Given the description of an element on the screen output the (x, y) to click on. 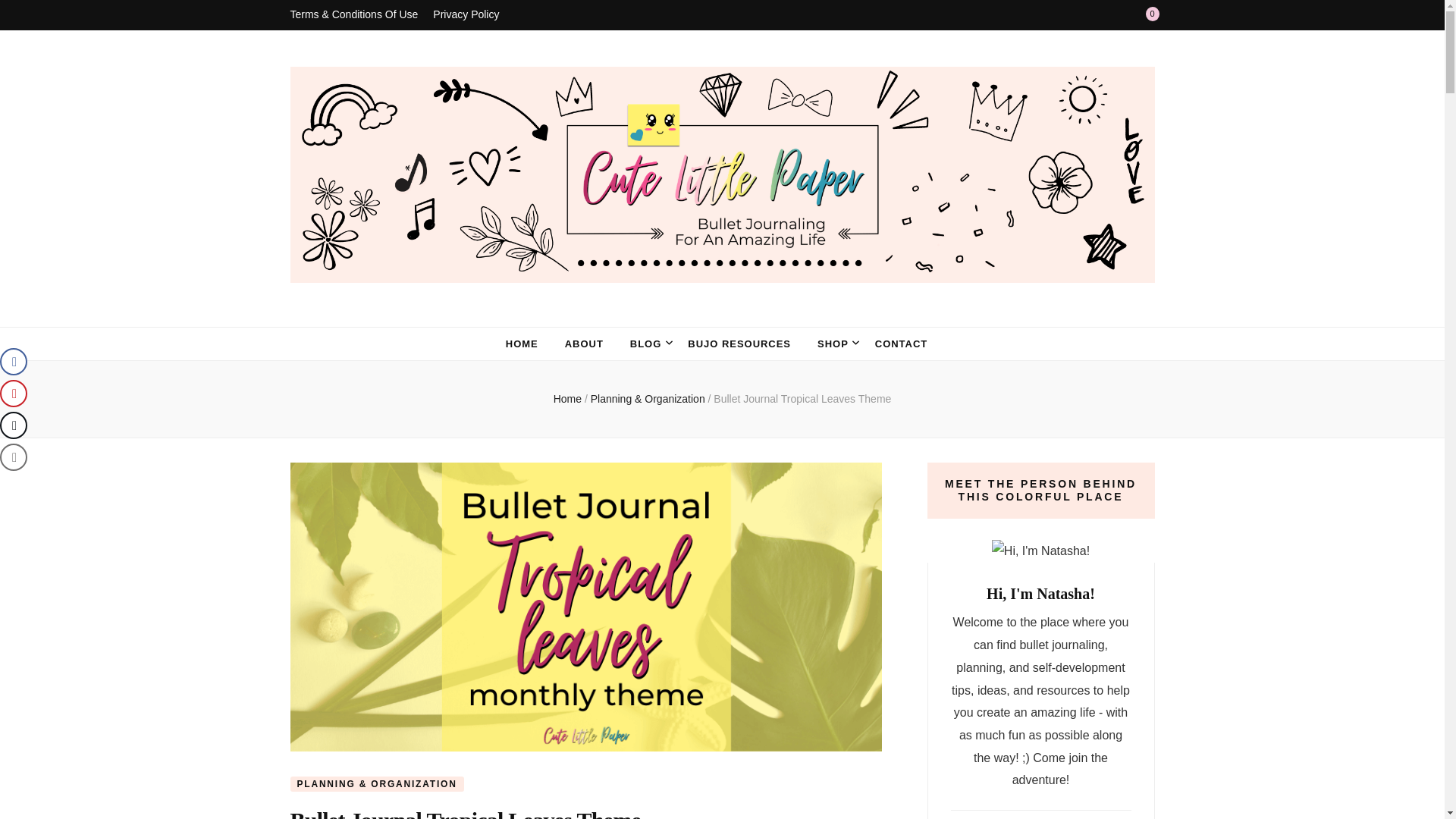
ABOUT (584, 343)
BLOG (645, 343)
Cute Little Paper (449, 314)
Privacy Policy (465, 15)
Home (566, 398)
CONTACT (901, 343)
BUJO RESOURCES (738, 343)
SHOP (832, 343)
HOME (521, 343)
Bullet Journal Tropical Leaves Theme (802, 398)
